Given the description of an element on the screen output the (x, y) to click on. 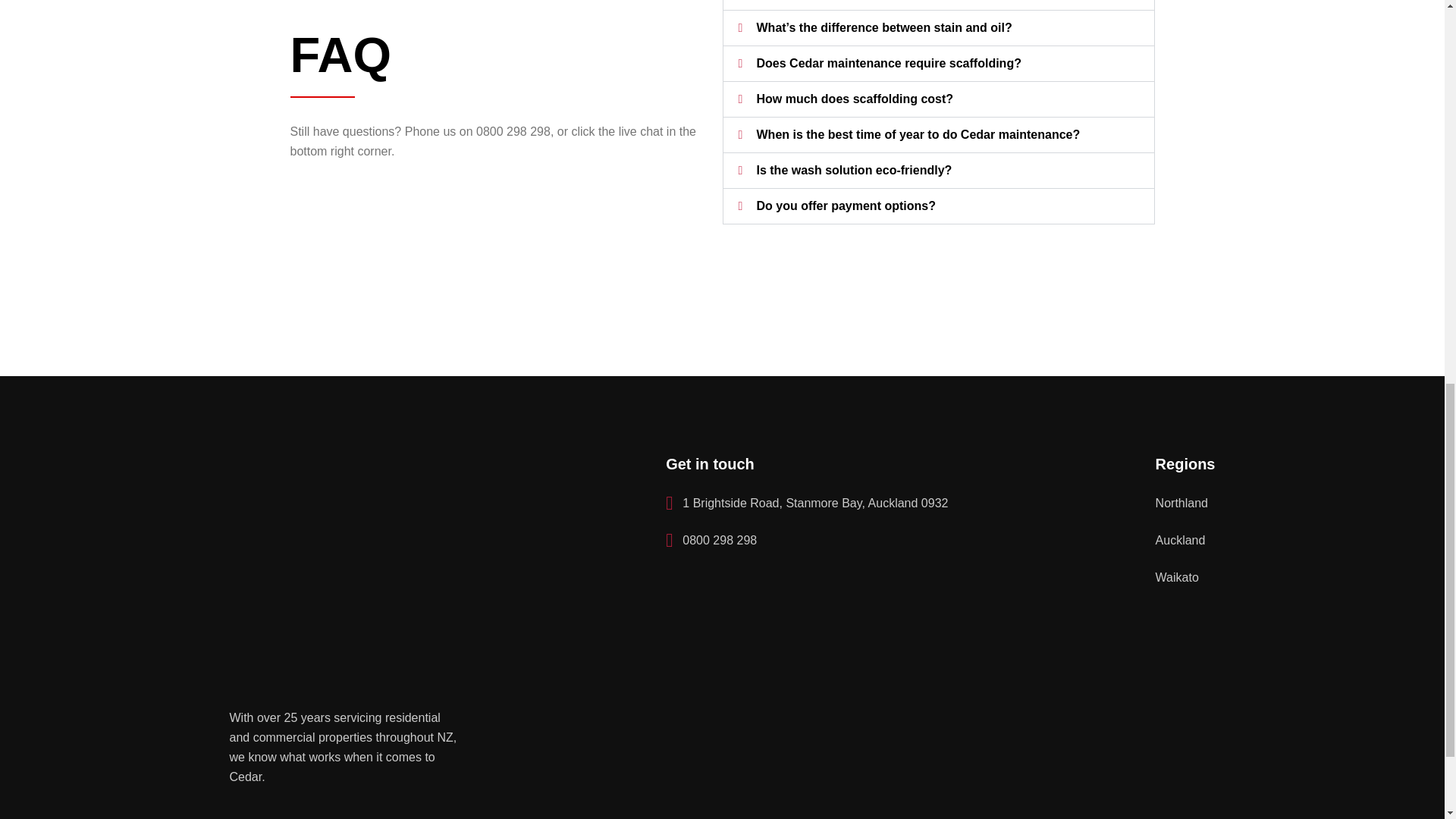
Does Cedar maintenance require scaffolding? (889, 62)
Auckland (1180, 540)
Northland (1182, 503)
How much does scaffolding cost? (855, 98)
0800 298 298 (711, 539)
1 Brightside Road, Stanmore Bay, Auckland 0932 (806, 503)
Do you offer payment options? (846, 205)
When is the best time of year to do Cedar maintenance? (918, 133)
Is the wash solution eco-friendly? (854, 169)
